Given the description of an element on the screen output the (x, y) to click on. 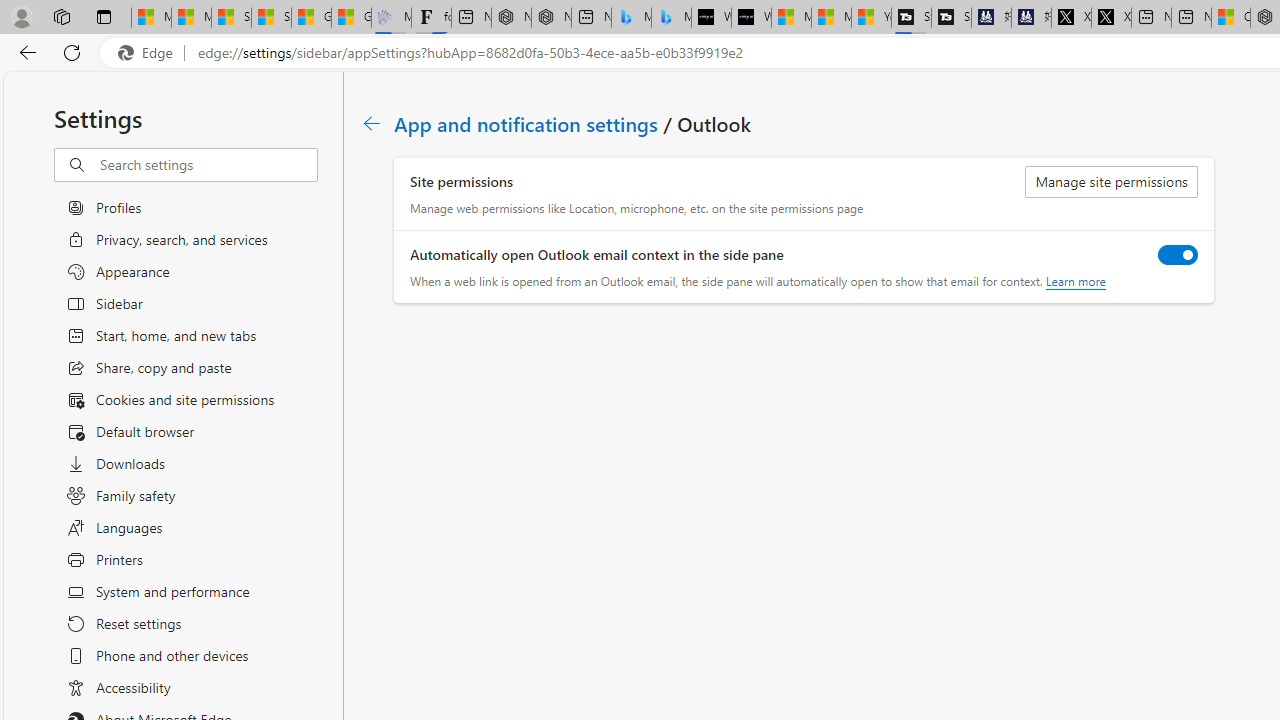
Automatically open Outlook email context in the side pane (1178, 254)
Go back to App and notification settings page. (372, 123)
Class: c01188 (371, 123)
App and notification settings (527, 123)
